Given the description of an element on the screen output the (x, y) to click on. 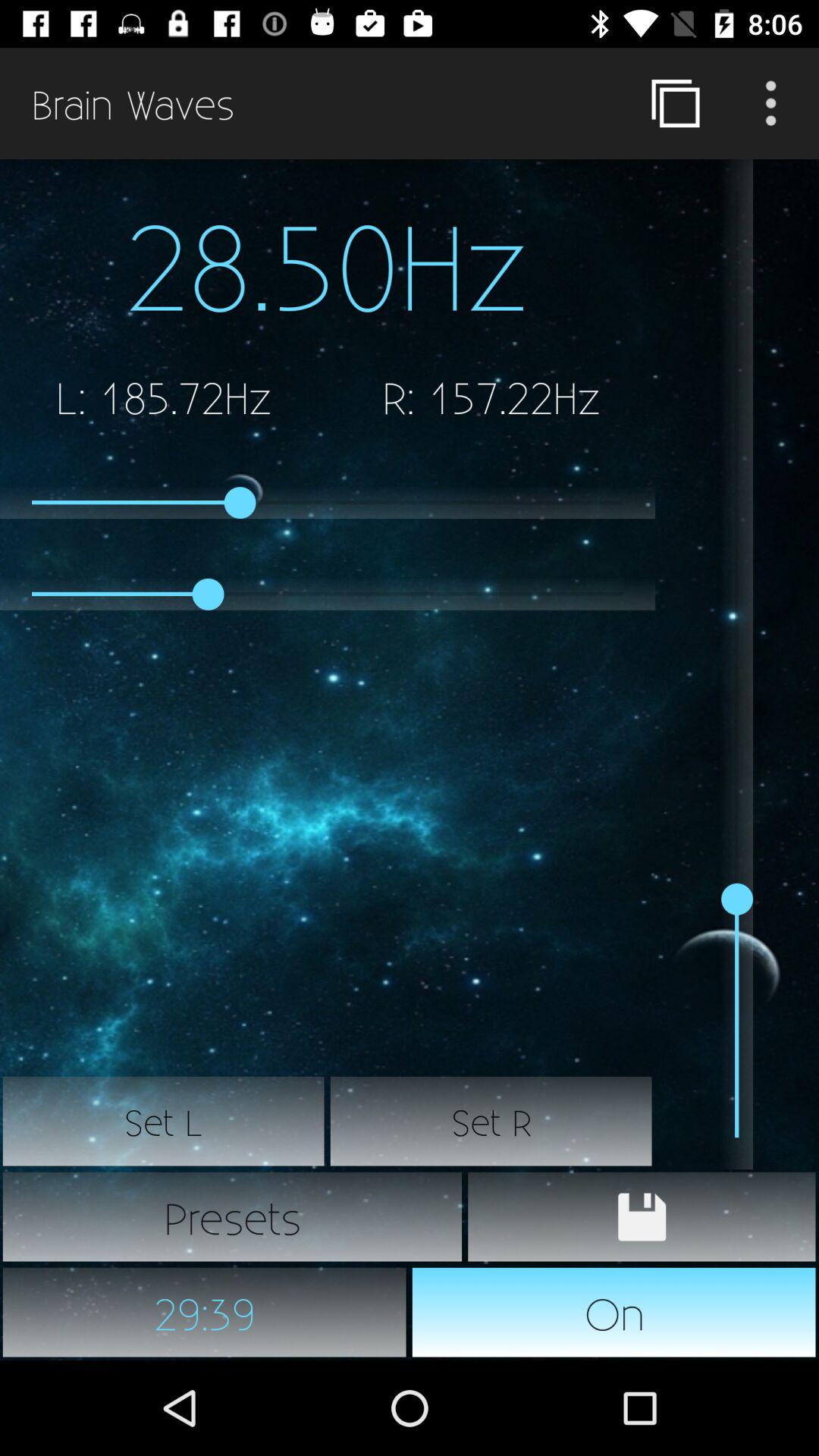
select the on icon (614, 1312)
